Given the description of an element on the screen output the (x, y) to click on. 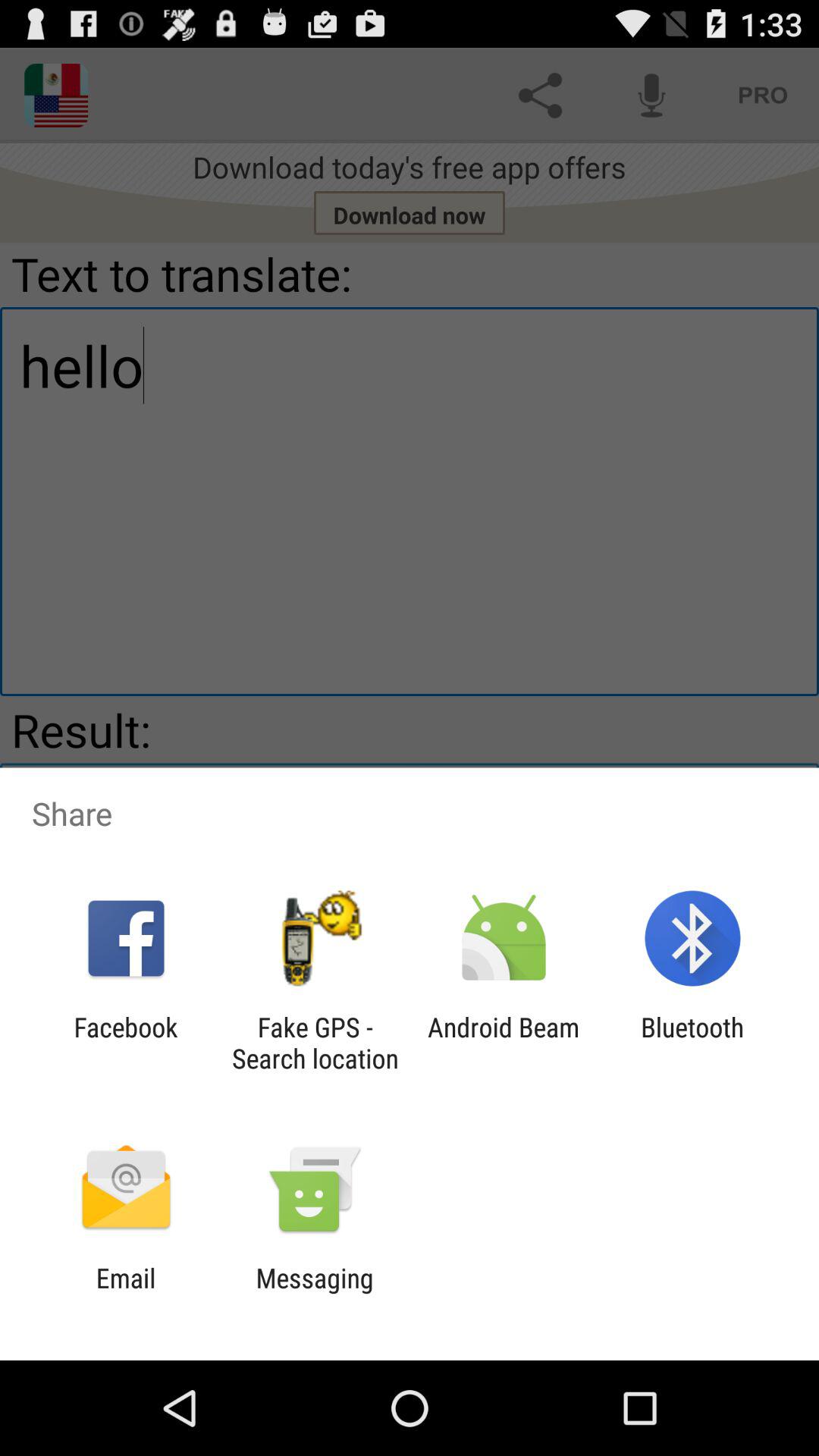
select the app to the right of email app (314, 1293)
